Given the description of an element on the screen output the (x, y) to click on. 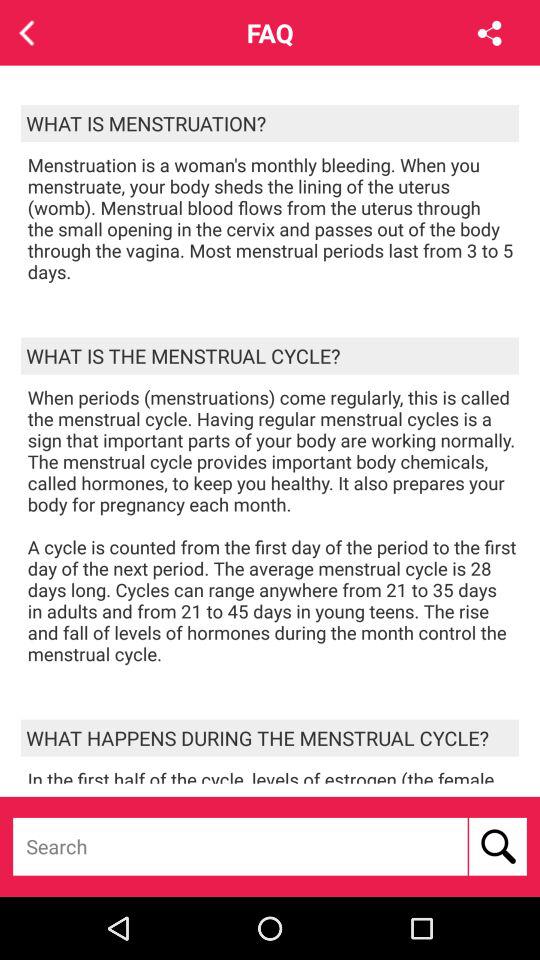
scroll until the in the first (273, 775)
